Given the description of an element on the screen output the (x, y) to click on. 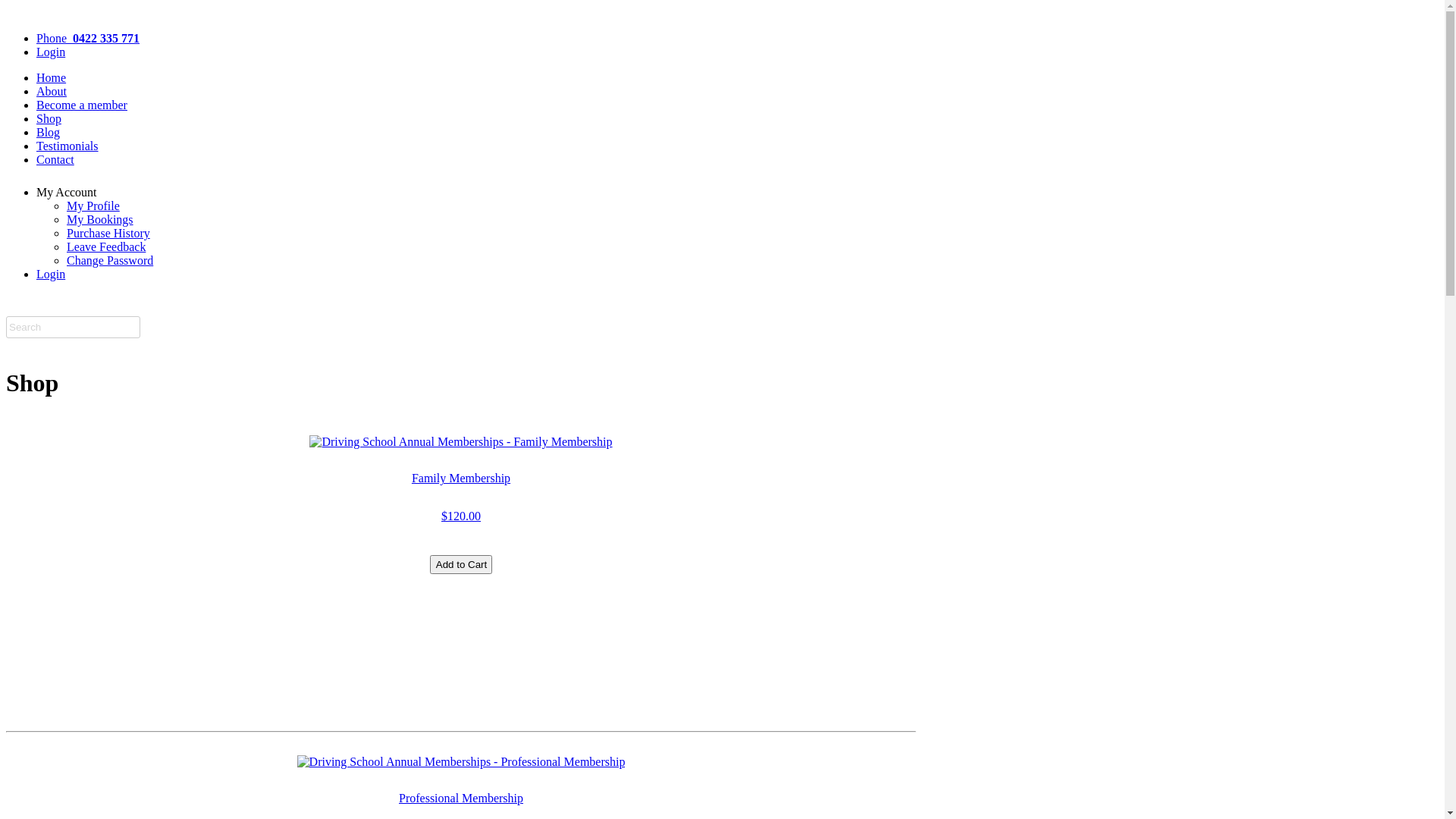
Change Password Element type: text (109, 260)
Login Element type: text (50, 51)
Shop Element type: text (48, 118)
Purchase History Element type: text (108, 232)
Leave Feedback Element type: text (105, 246)
My Profile Element type: text (92, 205)
Phone  0422 335 771 Element type: text (87, 37)
Testimonials Element type: text (67, 145)
Family Membership
$120.00 Element type: text (461, 491)
Contact Element type: text (55, 159)
Become a member Element type: text (81, 104)
About Element type: text (51, 90)
Home Element type: text (50, 77)
Add to Cart Element type: text (460, 564)
Login Element type: text (50, 273)
Blog Element type: text (47, 131)
My Bookings Element type: text (99, 219)
